Given the description of an element on the screen output the (x, y) to click on. 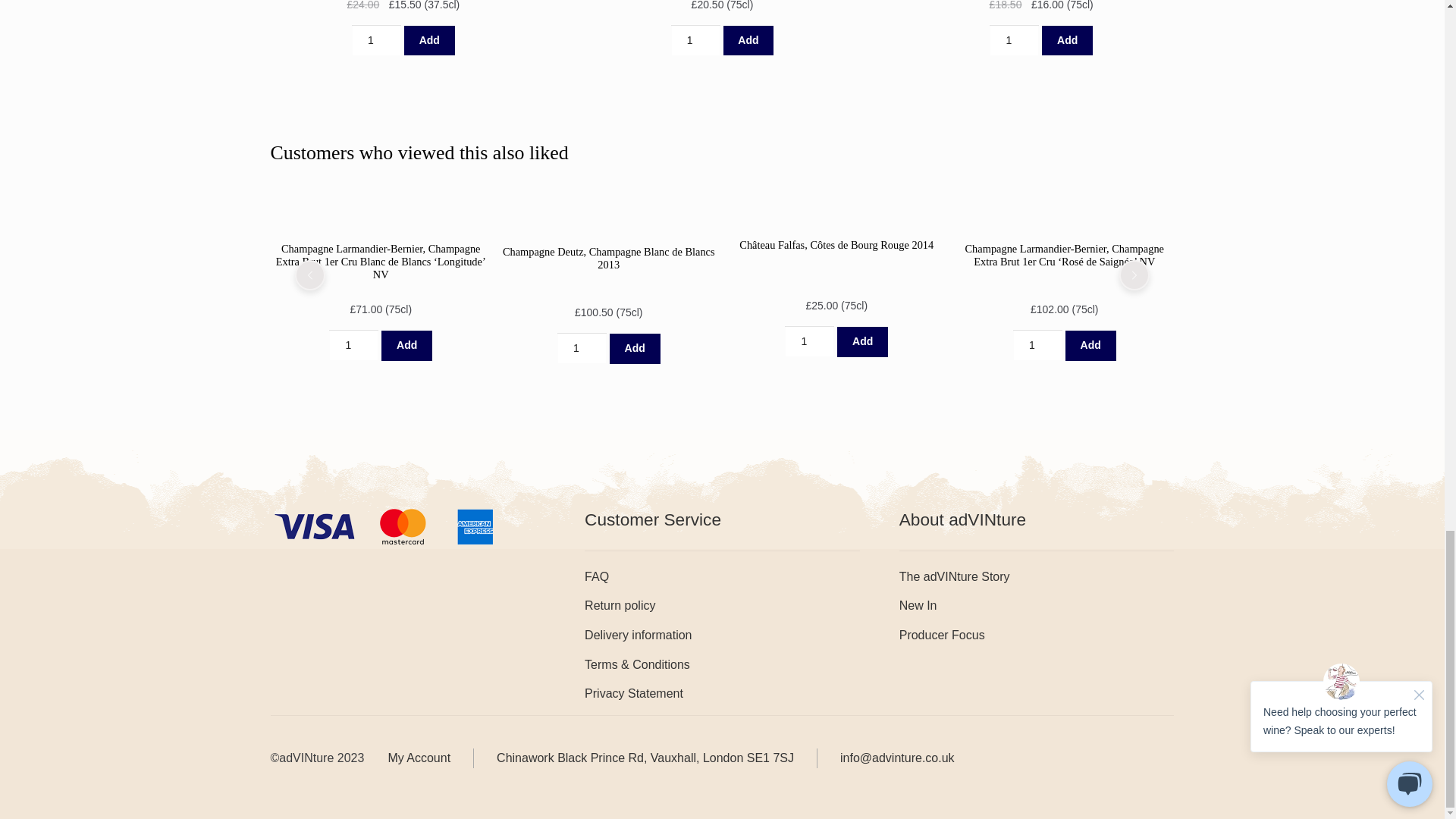
1 (376, 40)
1 (353, 345)
1 (580, 348)
1 (809, 341)
1 (1036, 345)
1 (1014, 40)
1 (695, 40)
